Given the description of an element on the screen output the (x, y) to click on. 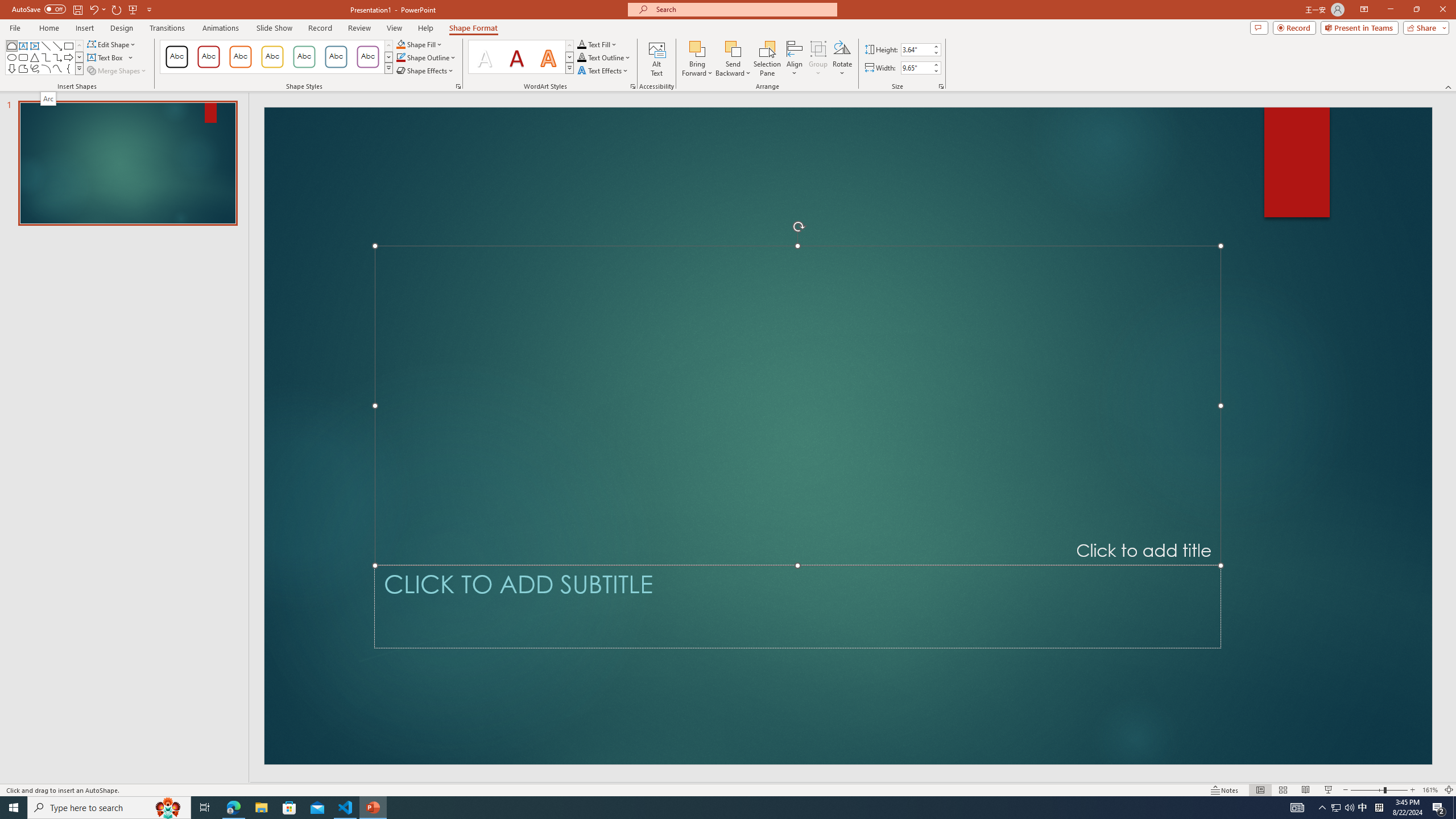
Merge Shapes (117, 69)
Rectangle: Top Corners Snipped (11, 45)
